Given the description of an element on the screen output the (x, y) to click on. 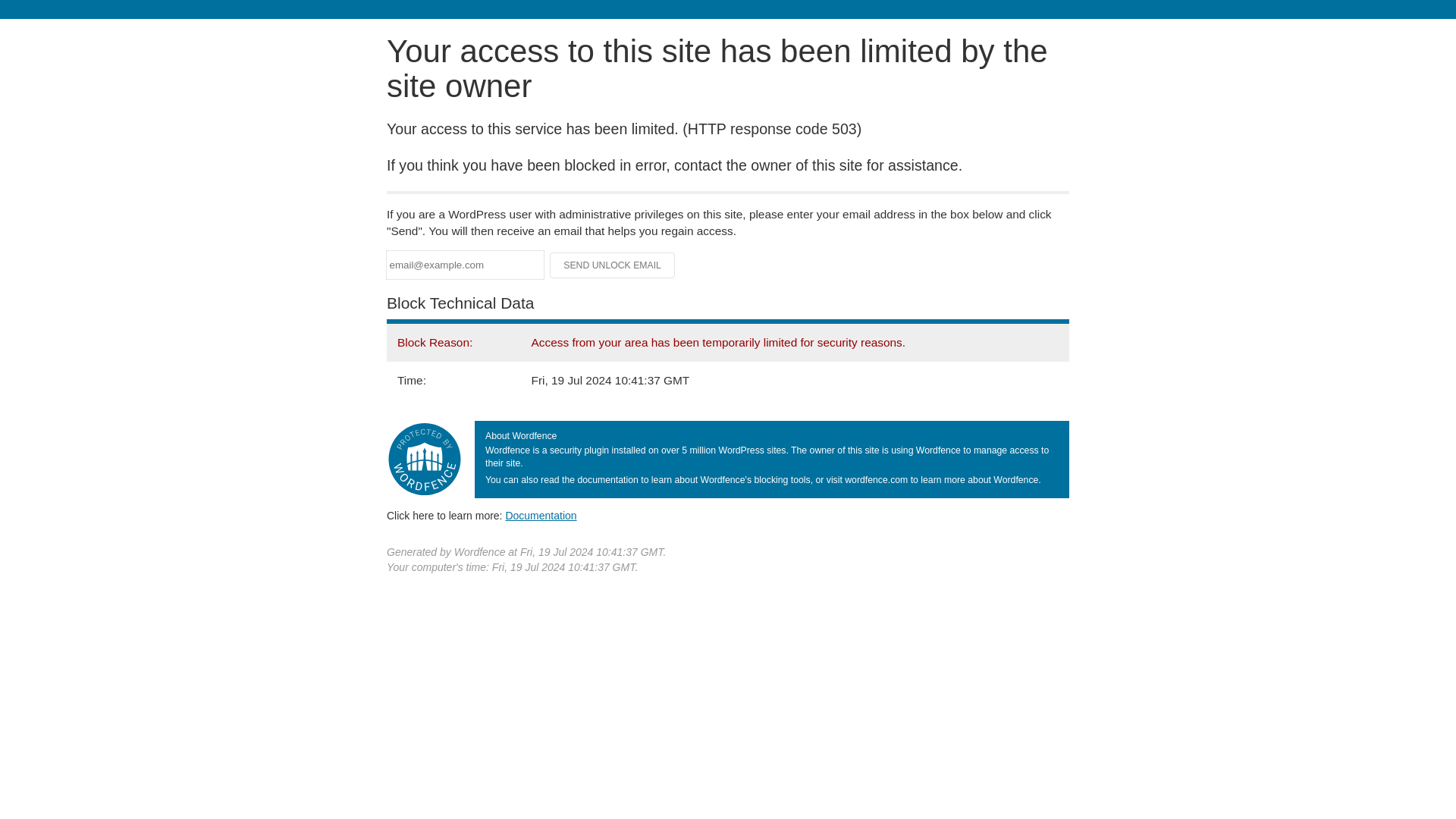
Send Unlock Email (612, 265)
Documentation (540, 515)
Send Unlock Email (612, 265)
